Given the description of an element on the screen output the (x, y) to click on. 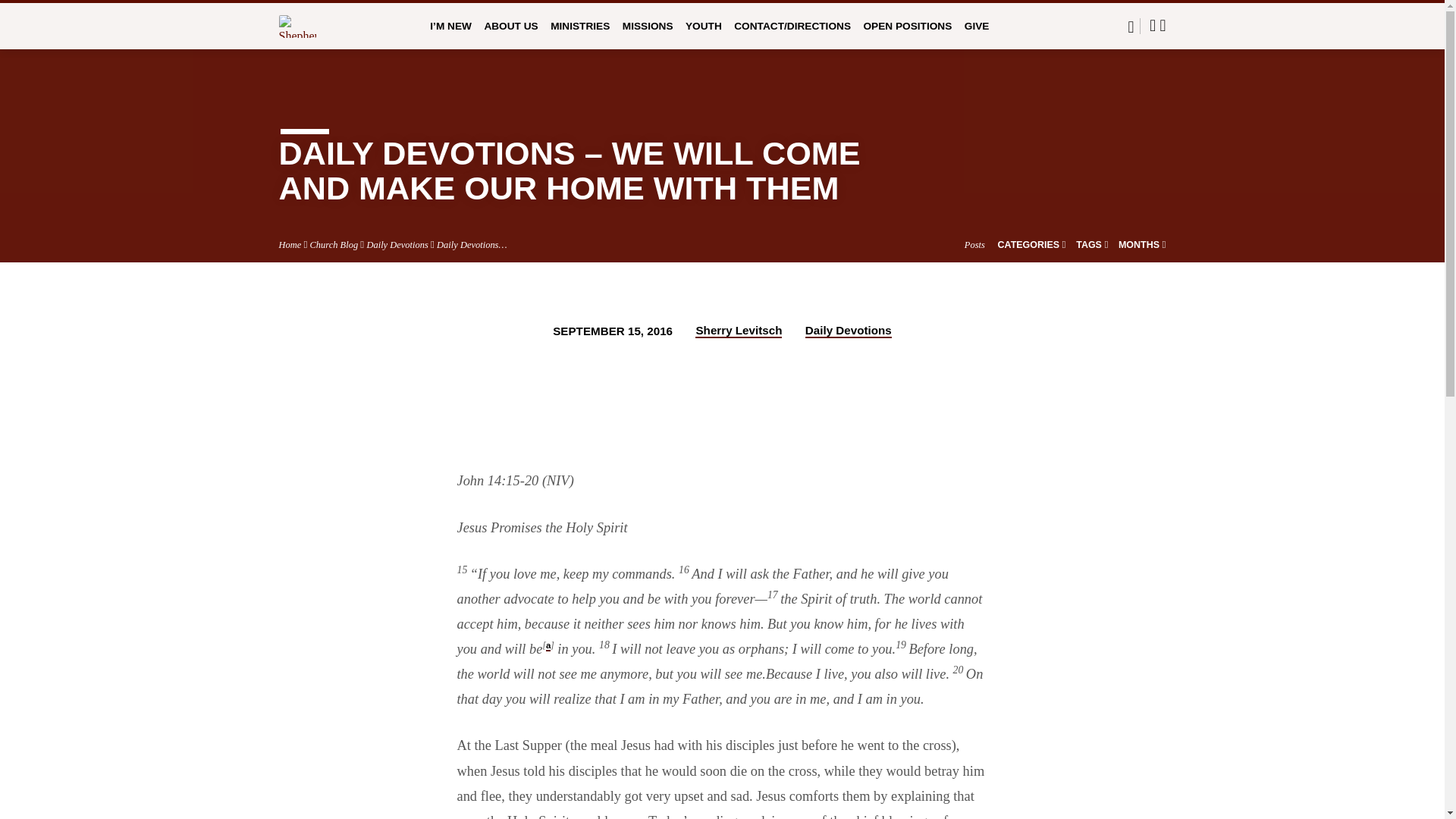
YOUTH (703, 35)
Church Blog (334, 244)
ABOUT US (510, 35)
CATEGORIES (1031, 244)
Daily Devotions (397, 244)
MISSIONS (647, 35)
Home (290, 244)
Posts (974, 244)
MINISTRIES (580, 35)
OPEN POSITIONS (907, 35)
